Given the description of an element on the screen output the (x, y) to click on. 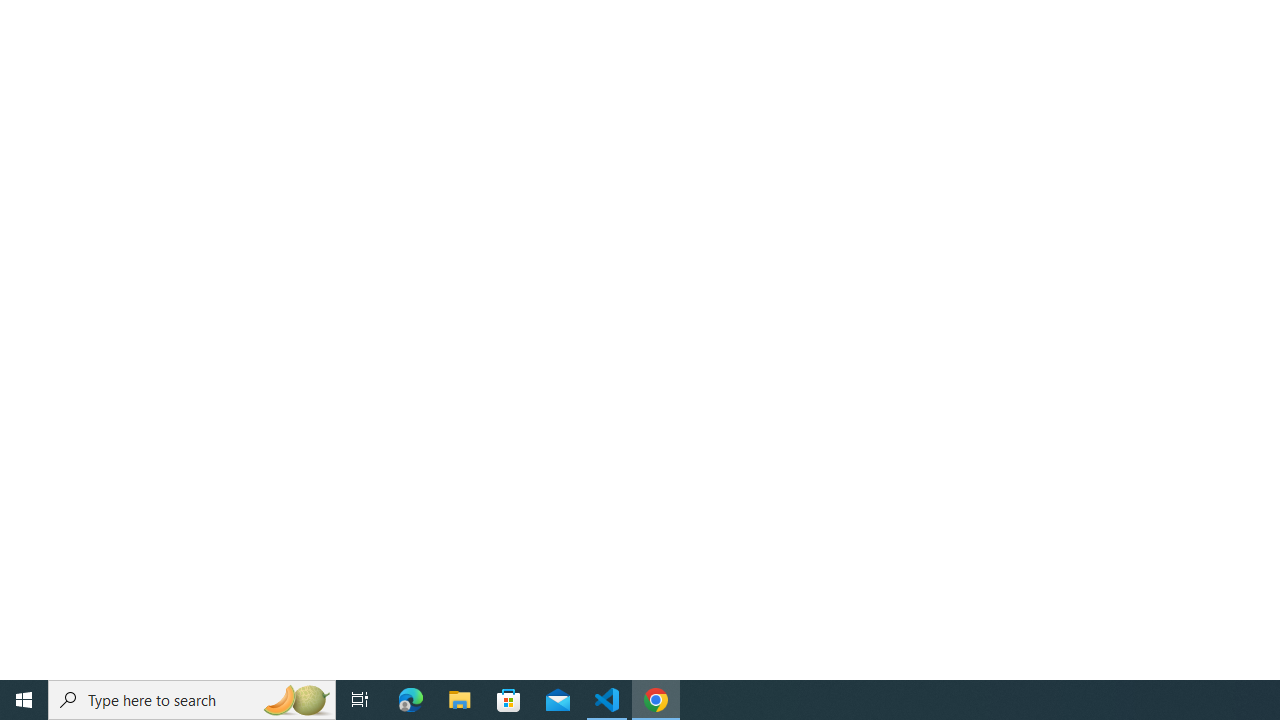
Microsoft Edge (411, 699)
Visual Studio Code - 1 running window (607, 699)
Search highlights icon opens search home window (295, 699)
Google Chrome - 1 running window (656, 699)
Type here to search (191, 699)
Task View (359, 699)
Microsoft Store (509, 699)
File Explorer (460, 699)
Start (24, 699)
